Given the description of an element on the screen output the (x, y) to click on. 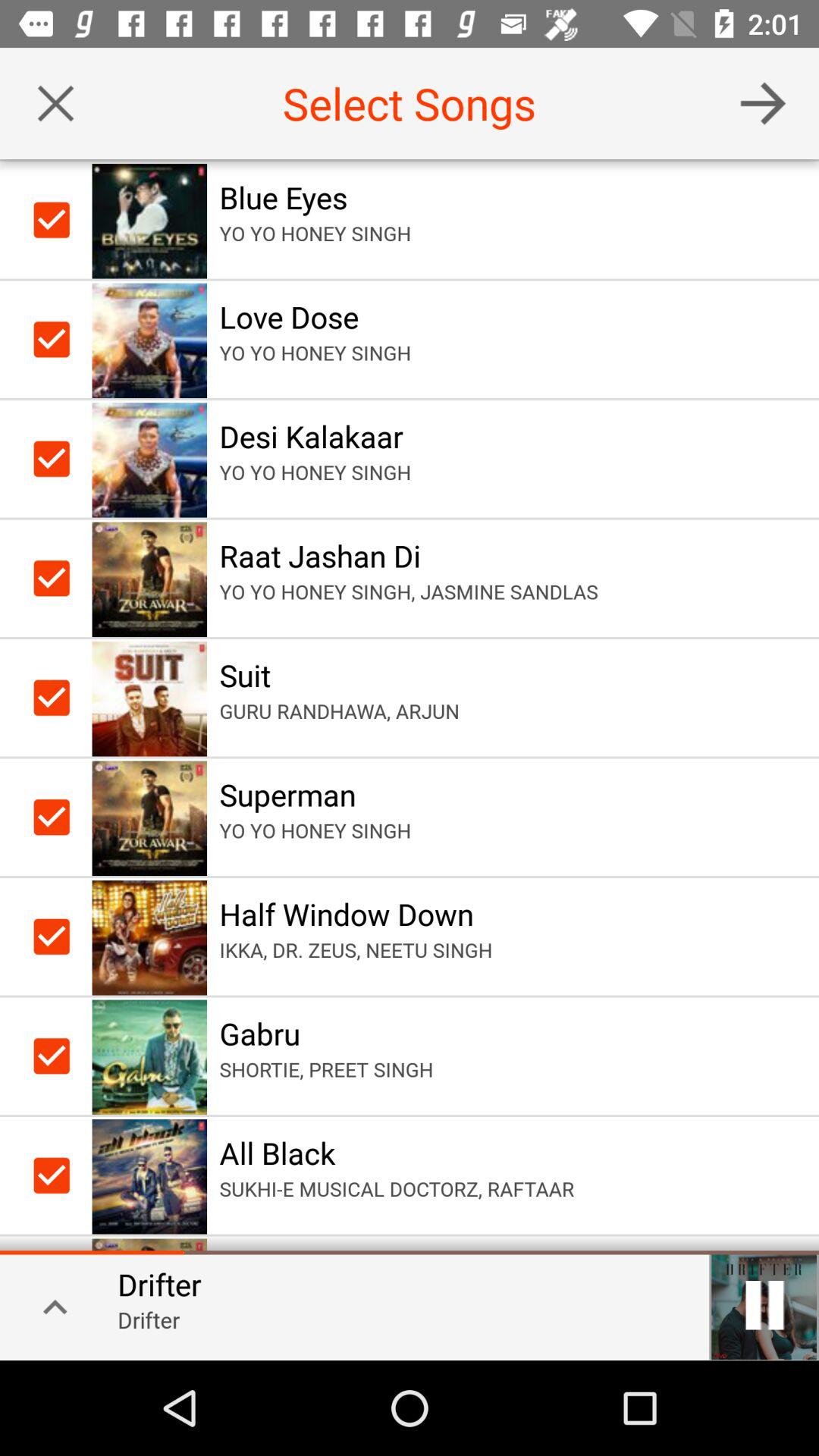
close song selection (55, 103)
